Given the description of an element on the screen output the (x, y) to click on. 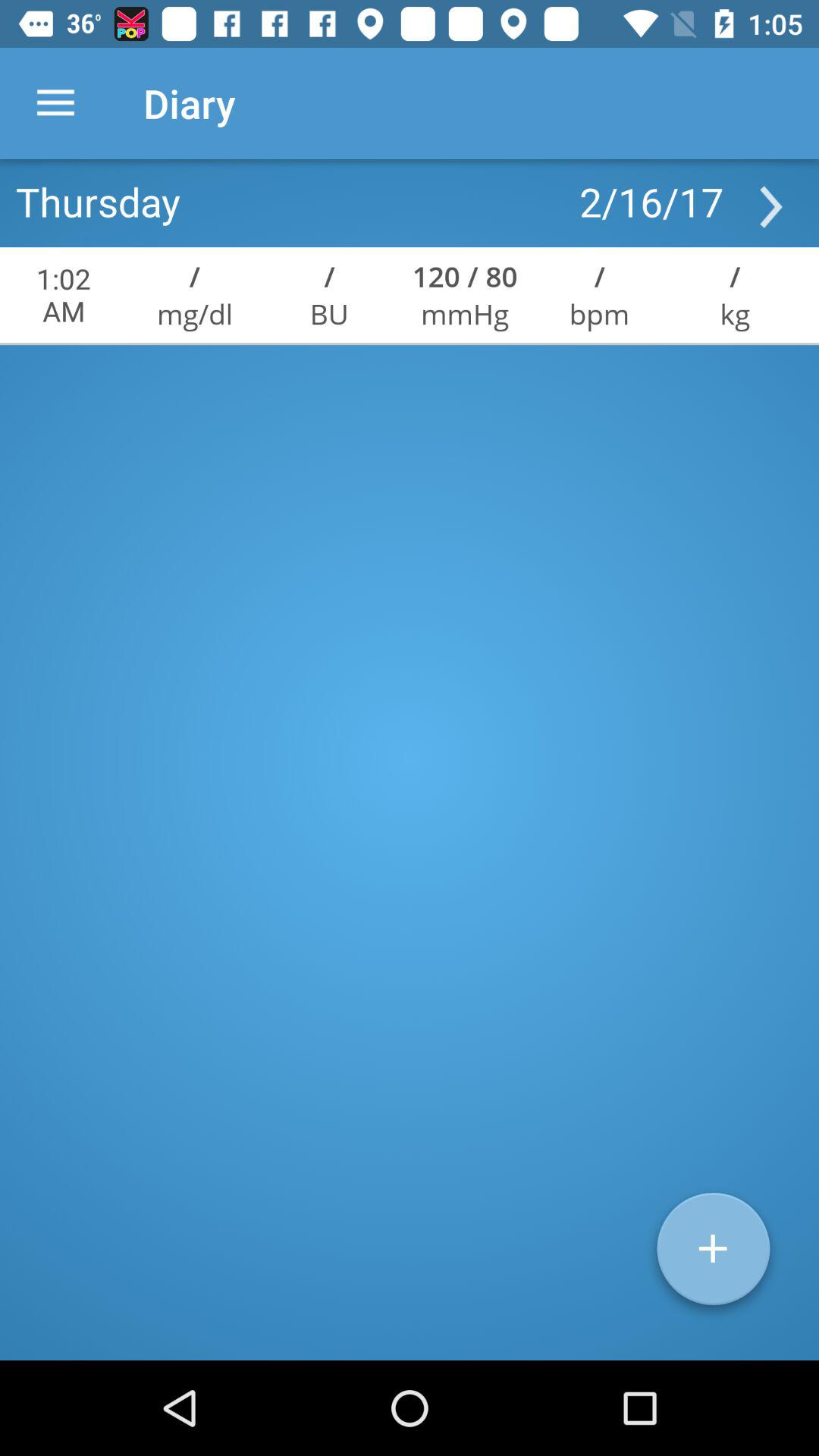
choose the icon to the left of the kg item (599, 313)
